Given the description of an element on the screen output the (x, y) to click on. 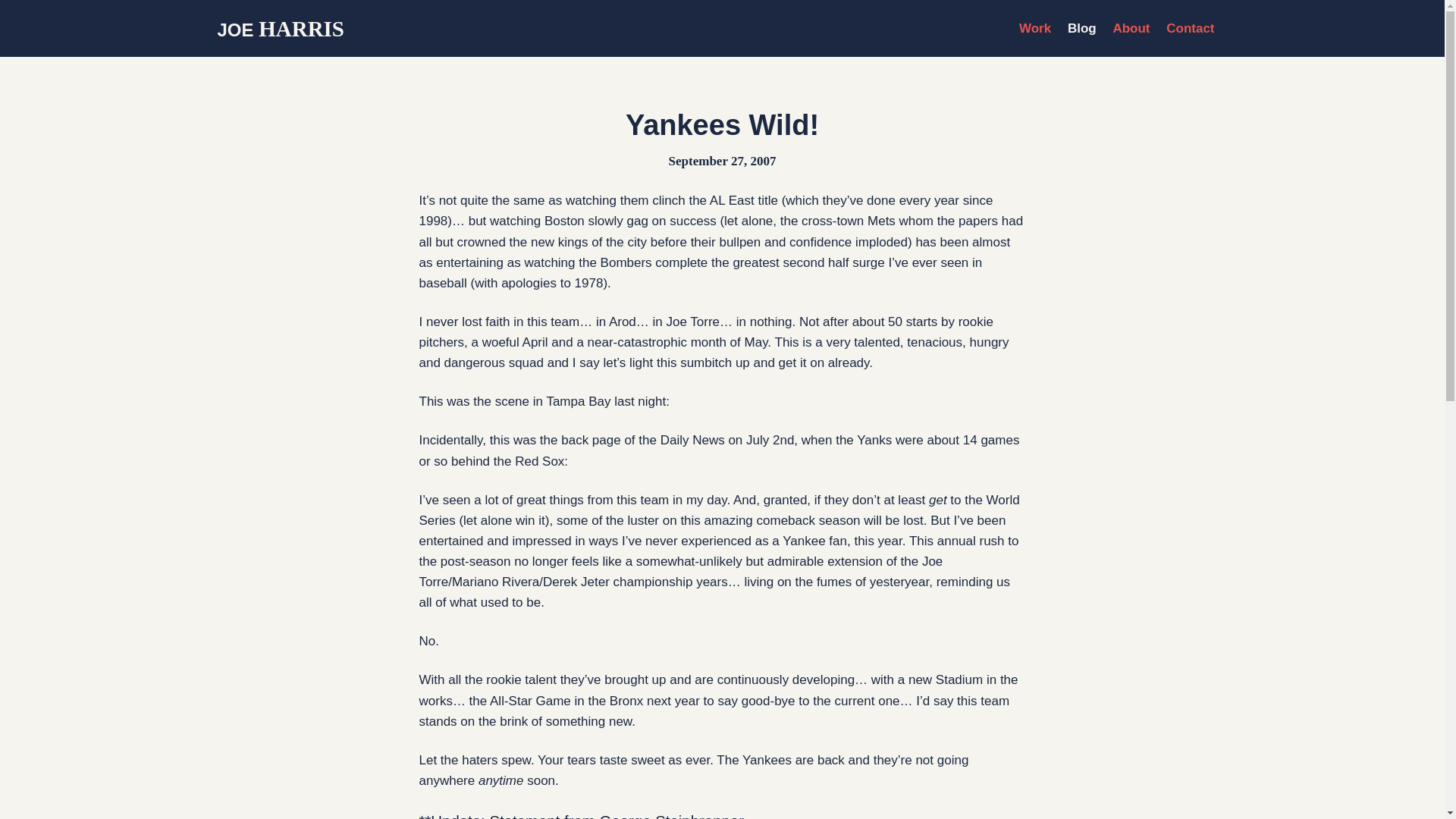
About (1131, 28)
JOE HARRIS (279, 29)
Work (1035, 28)
Blog (1081, 28)
Contact (1190, 28)
Joe Harris (279, 29)
